Given the description of an element on the screen output the (x, y) to click on. 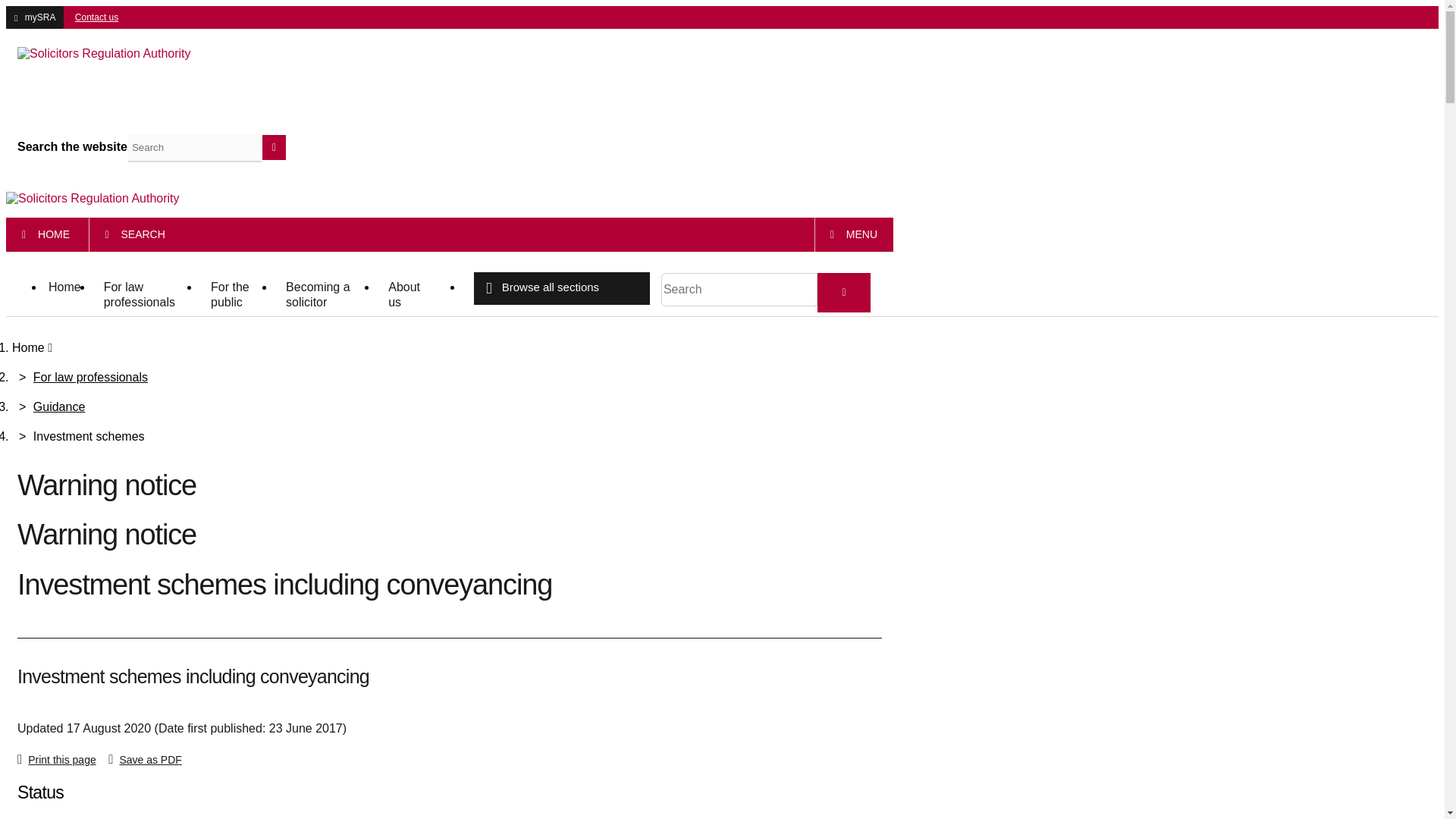
Print this page (60, 759)
Becoming a solicitor (325, 295)
For law professionals (145, 295)
Browse all sections (561, 287)
For law professionals (90, 377)
HOME (45, 234)
Save as PDF (148, 759)
For the public (237, 295)
Contact us (91, 16)
Guidance (59, 406)
